Given the description of an element on the screen output the (x, y) to click on. 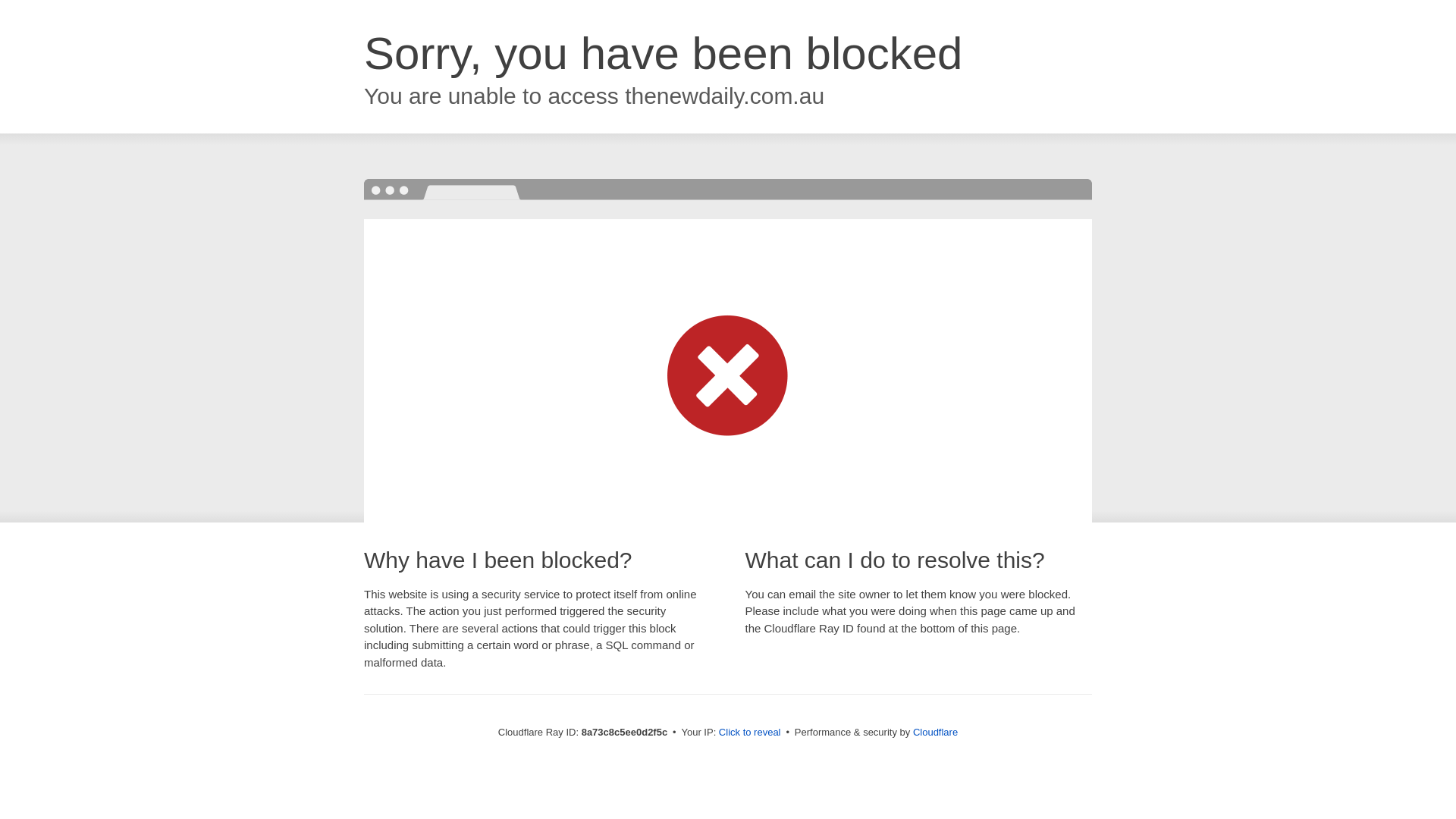
Click to reveal (749, 732)
Cloudflare (935, 731)
